Given the description of an element on the screen output the (x, y) to click on. 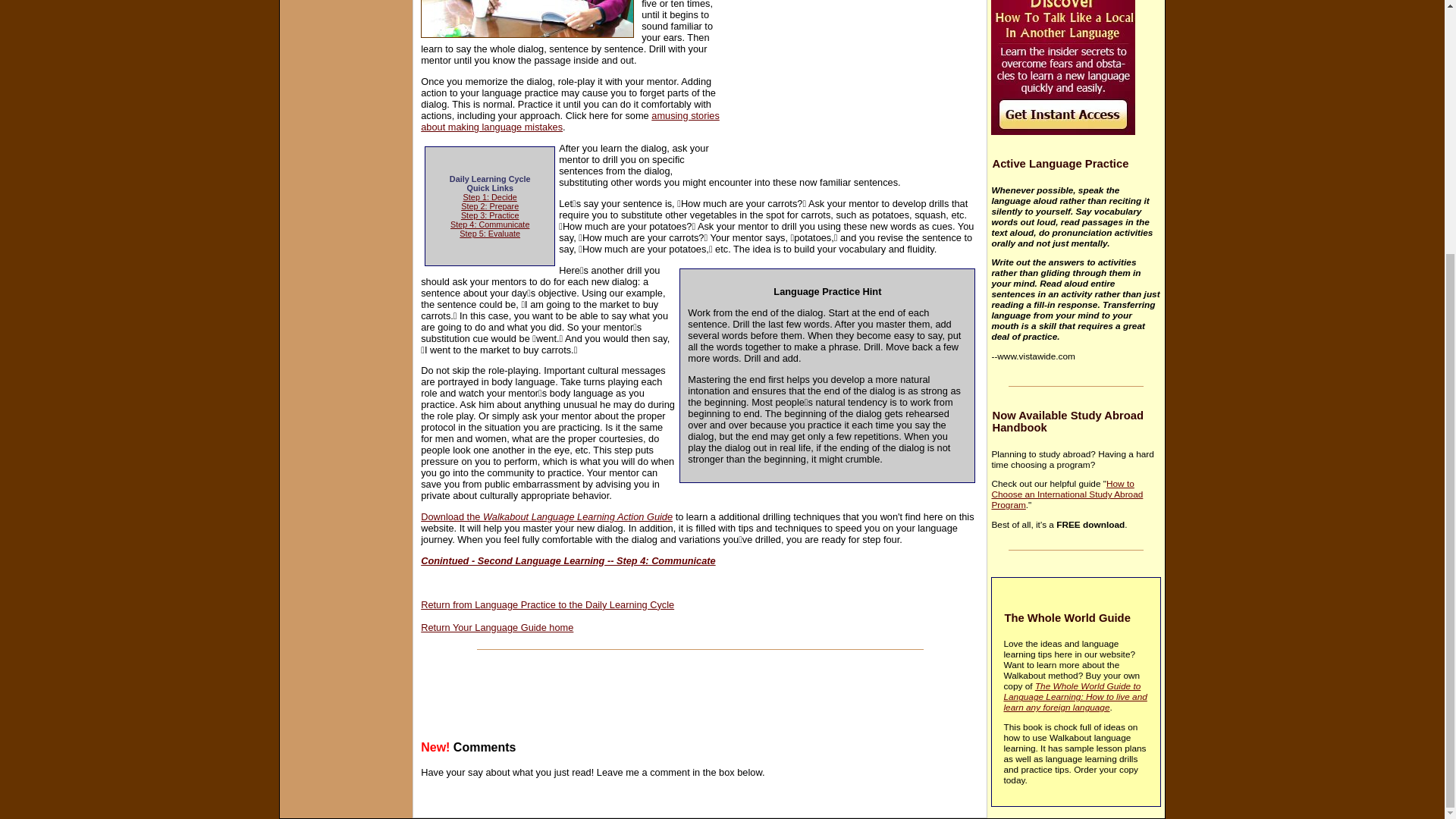
Step 5: Evaluate (489, 233)
Step 1: Decide (489, 196)
amusing stories about making language mistakes (569, 120)
Step 3: Practice (490, 215)
Download the Walkabout Language Learning Action Guide (546, 516)
Conintued - Second Language Learning -- Step 4: Communicate (567, 560)
How to Choose an International Study Abroad Program (1066, 494)
Step 4: Communicate (489, 224)
Return from Language Practice to the Daily Learning Cycle (547, 604)
Return Your Language Guide home (496, 627)
